Given the description of an element on the screen output the (x, y) to click on. 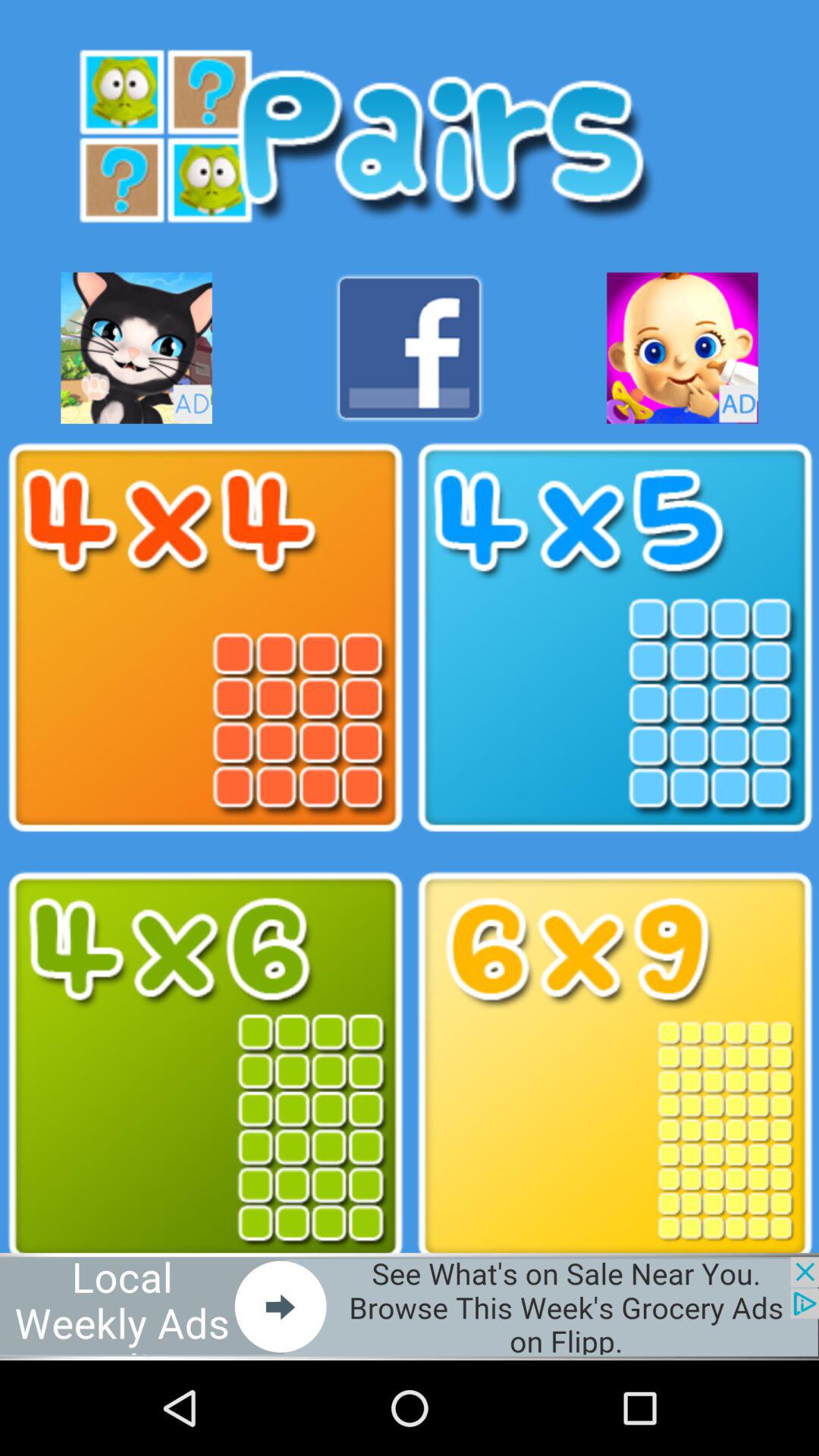
formula page (204, 1066)
